Given the description of an element on the screen output the (x, y) to click on. 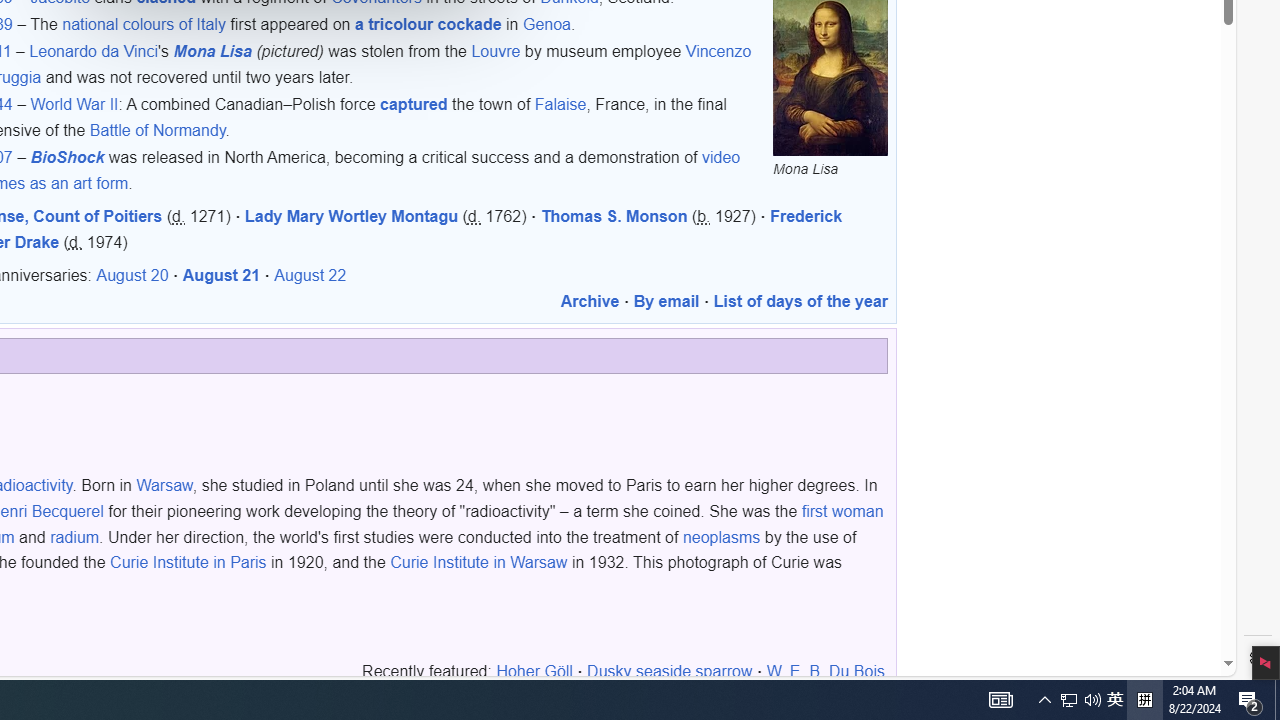
Genoa (546, 24)
Warsaw (164, 485)
a tricolour cockade (427, 24)
By email (666, 302)
